Given the description of an element on the screen output the (x, y) to click on. 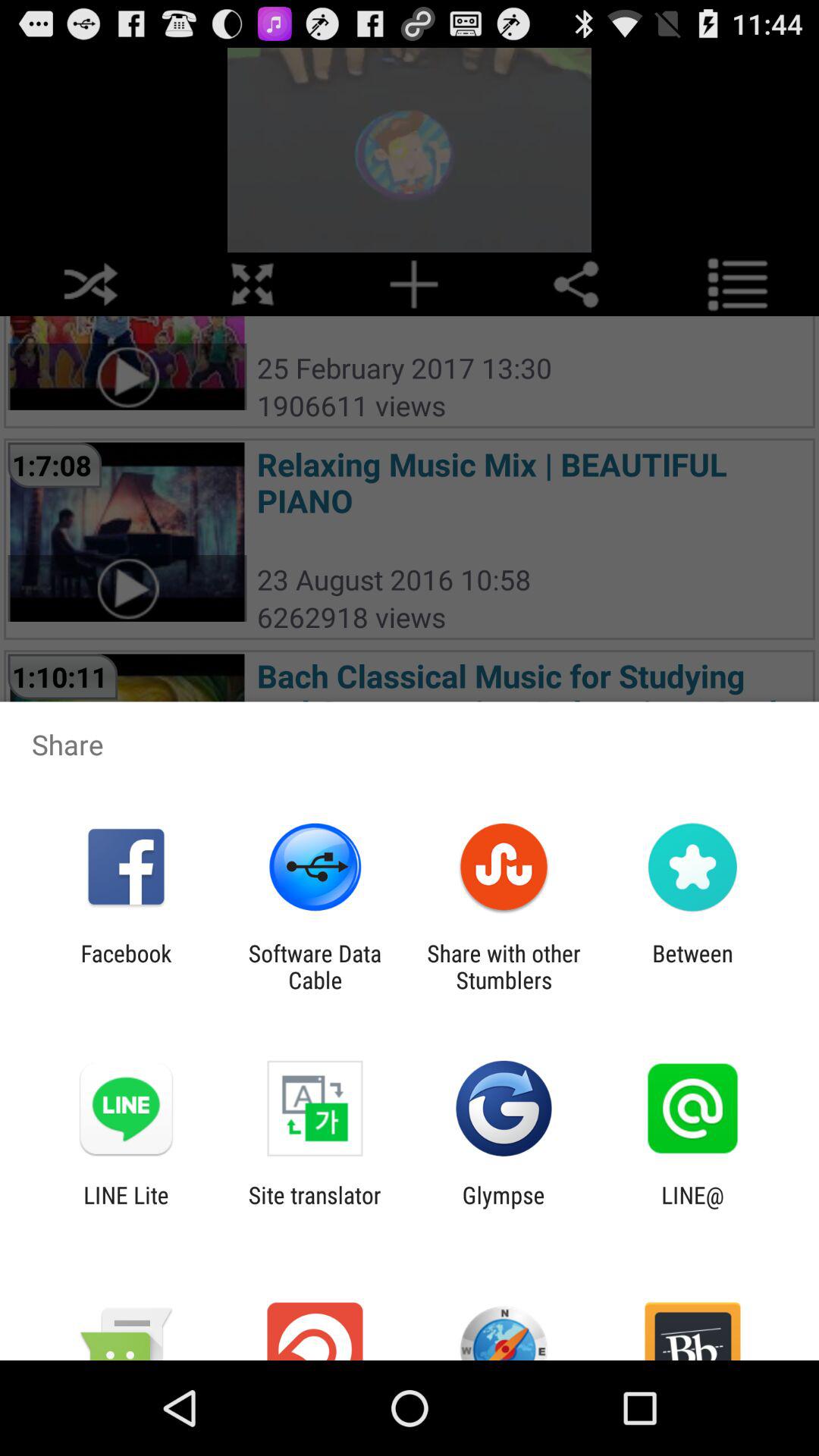
turn off the site translator app (314, 1208)
